Given the description of an element on the screen output the (x, y) to click on. 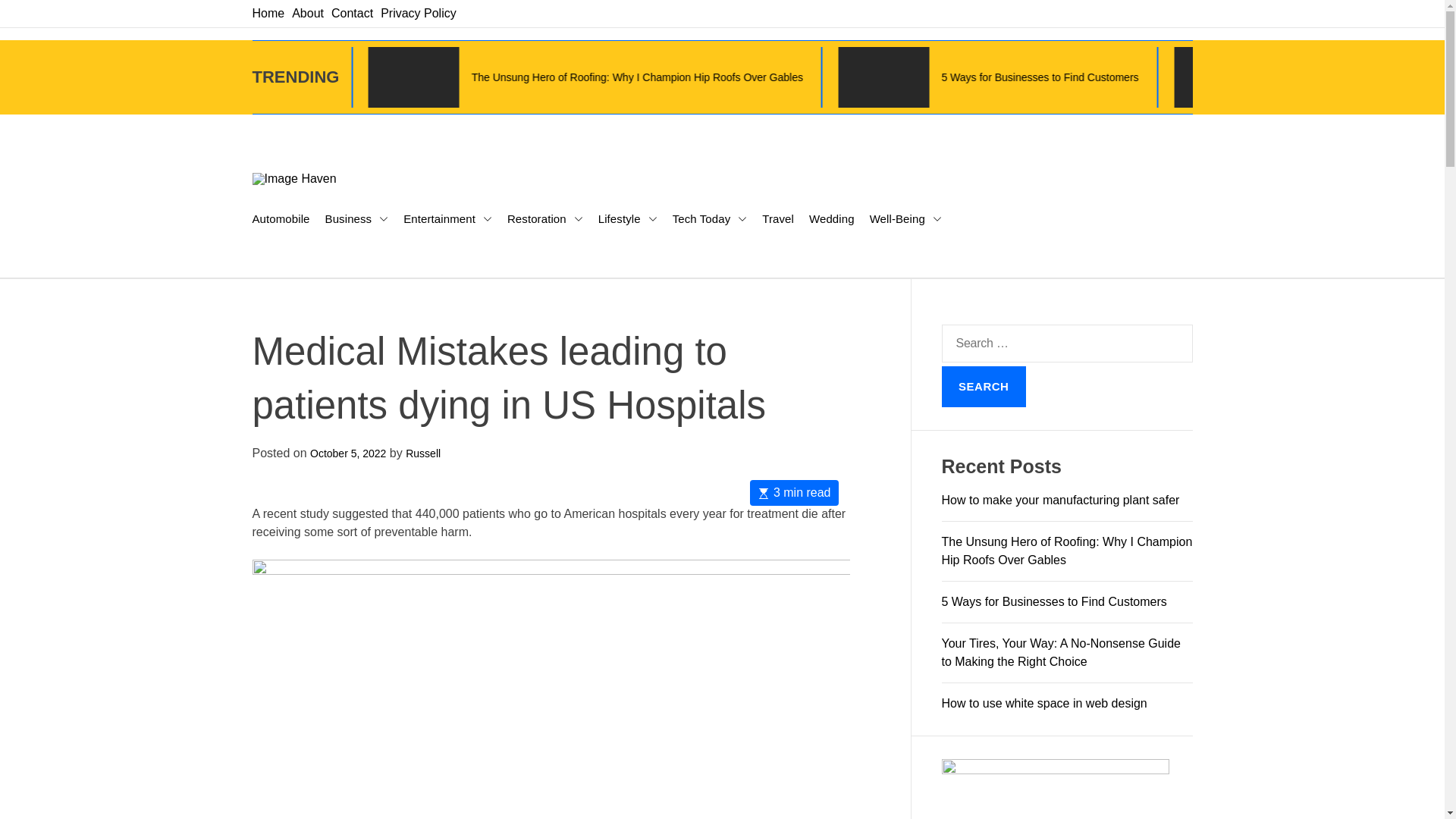
Search (984, 386)
About (307, 12)
Contact (351, 12)
How to make your manufacturing plant safer (558, 77)
Privacy Policy (418, 12)
Click Here (1055, 789)
Home (267, 12)
Search (984, 386)
